Given the description of an element on the screen output the (x, y) to click on. 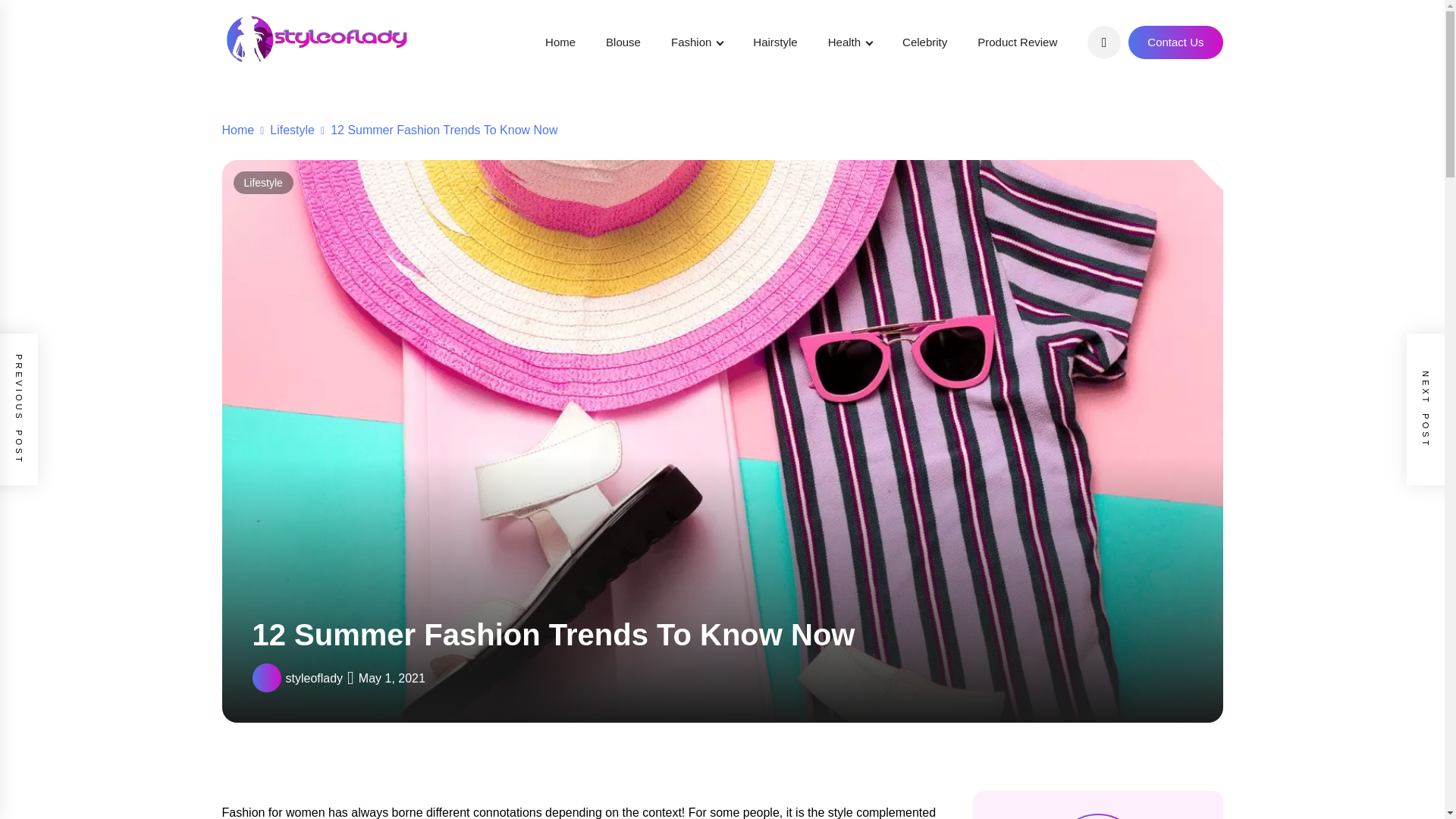
Home (559, 42)
Lifestyle (283, 129)
12 Summer Fashion Trends To Know Now (435, 129)
styleoflady (313, 677)
Lifestyle (263, 182)
May 1, 2021 (391, 677)
Home (237, 129)
Hairstyle (774, 42)
Blouse (622, 42)
Fashion (696, 42)
